Given the description of an element on the screen output the (x, y) to click on. 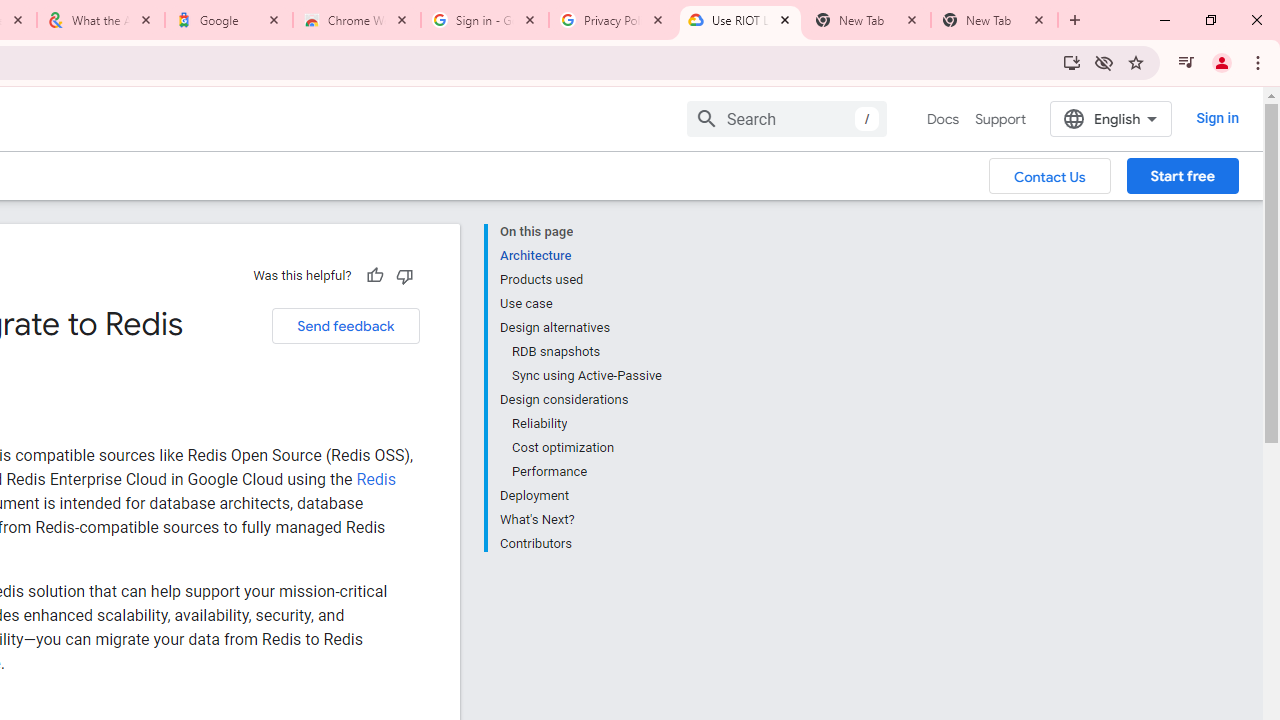
Cost optimization (585, 448)
Start free (1182, 175)
Contributors (580, 542)
Reliability (585, 423)
Design alternatives (580, 327)
Design considerations (580, 399)
Architecture (580, 255)
